Given the description of an element on the screen output the (x, y) to click on. 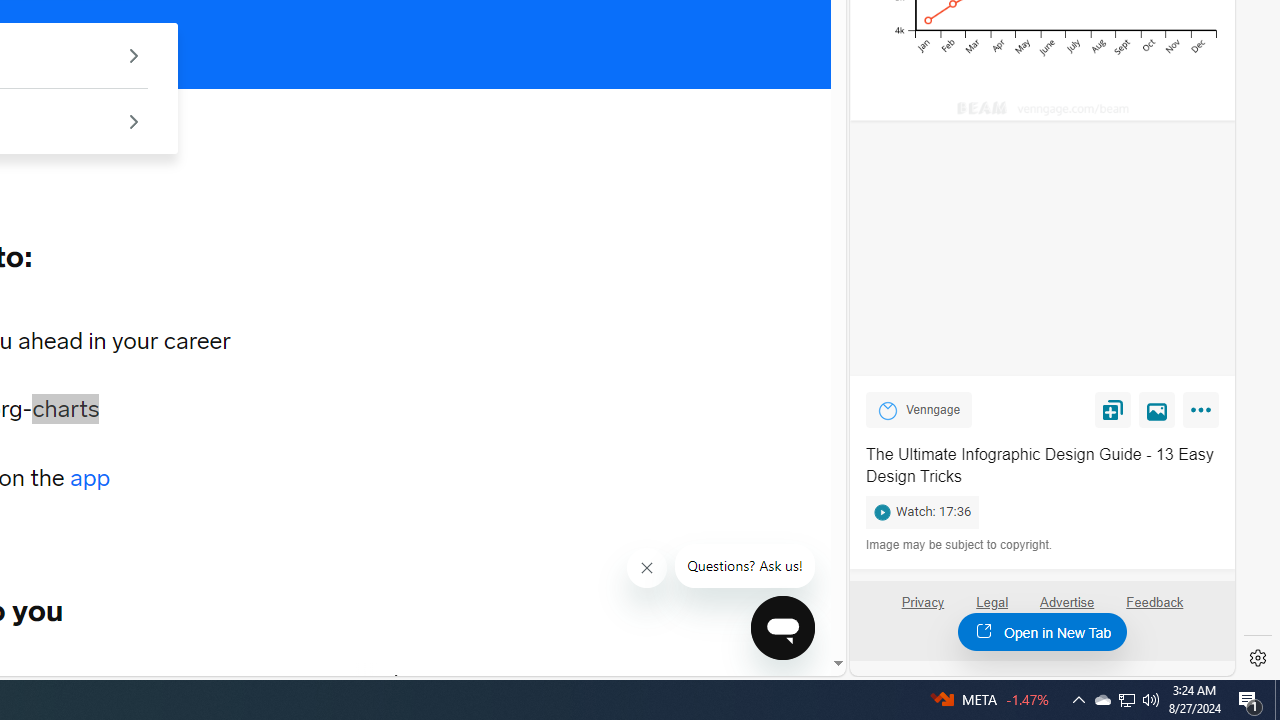
See group offers (133, 120)
Open messaging window (783, 628)
Class: sc-1uf0igr-1 fjHZYk (646, 568)
Questions? Ask us! (745, 566)
